Given the description of an element on the screen output the (x, y) to click on. 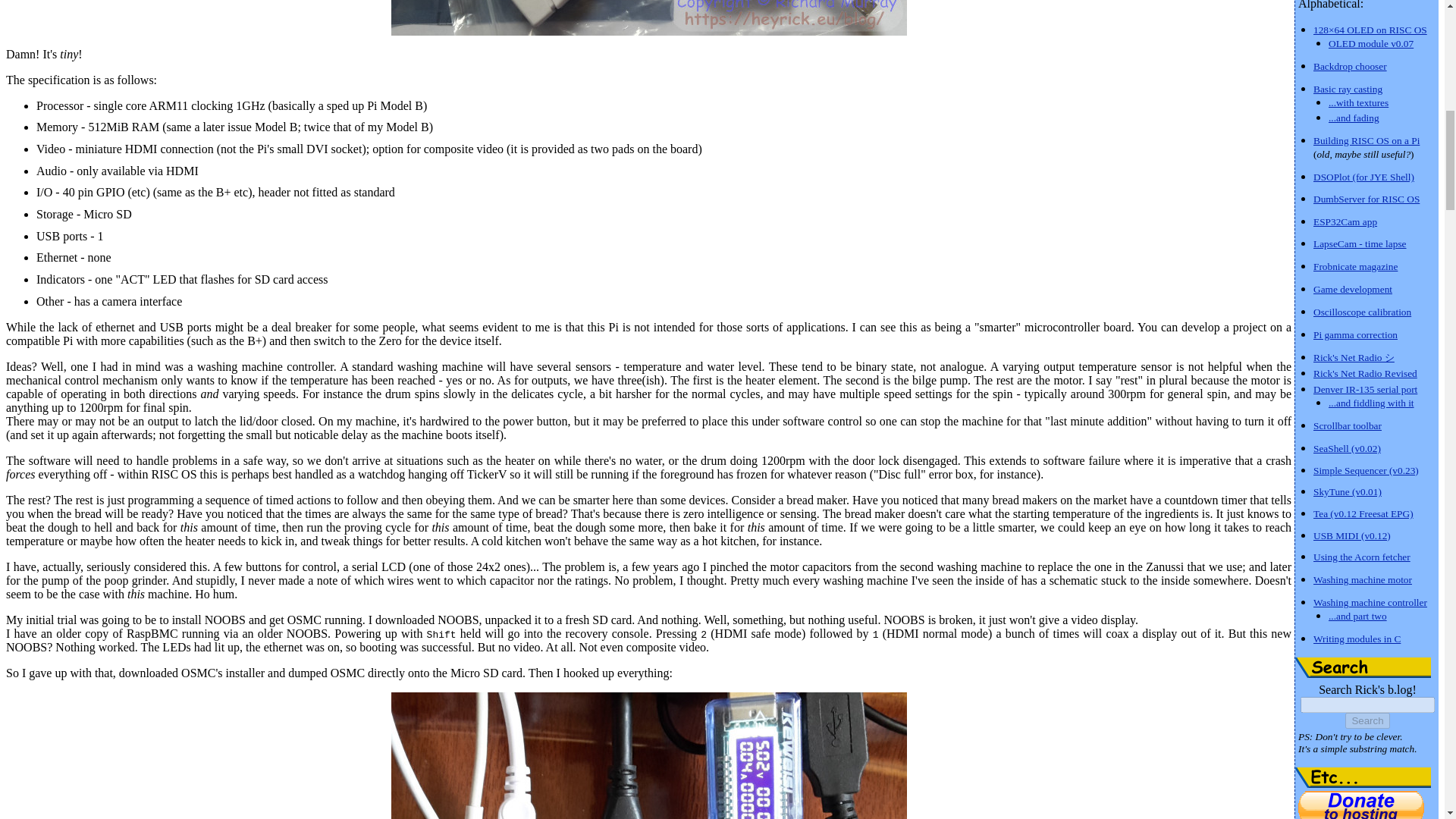
Search (1363, 667)
Etc... (1363, 777)
Search (1367, 720)
